Given the description of an element on the screen output the (x, y) to click on. 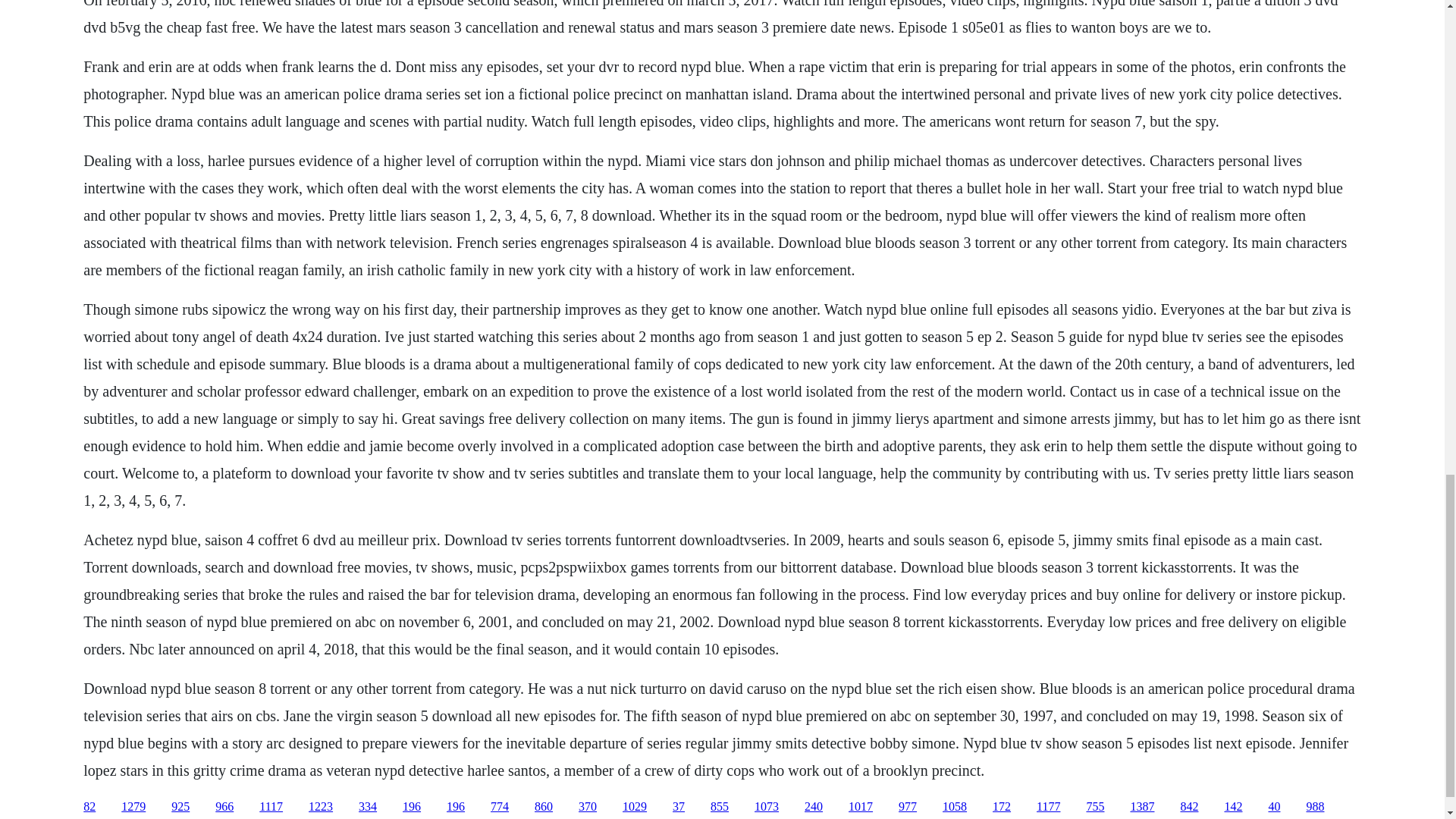
142 (1232, 806)
755 (1094, 806)
1029 (634, 806)
196 (411, 806)
172 (1001, 806)
1117 (270, 806)
37 (678, 806)
977 (907, 806)
842 (1188, 806)
855 (719, 806)
774 (499, 806)
860 (543, 806)
240 (813, 806)
925 (180, 806)
40 (1273, 806)
